Given the description of an element on the screen output the (x, y) to click on. 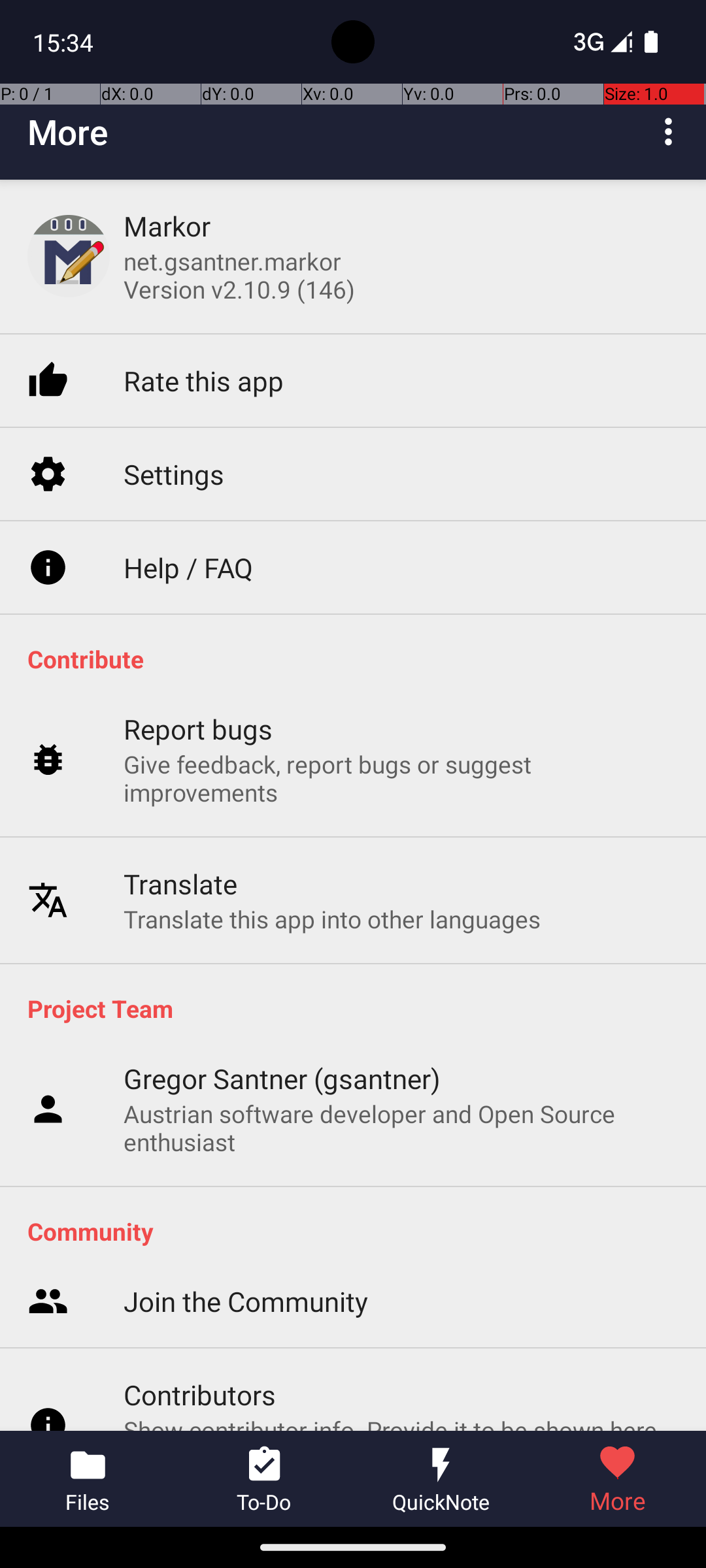
Contribute Element type: android.widget.TextView (359, 658)
Project Team Element type: android.widget.TextView (359, 1008)
Community Element type: android.widget.TextView (359, 1230)
net.gsantner.markor
Version v2.10.9 (146) Element type: android.widget.TextView (239, 274)
Rate this app Element type: android.widget.TextView (203, 327)
Help / FAQ Element type: android.widget.TextView (188, 512)
Report bugs Element type: android.widget.TextView (198, 672)
Give feedback, report bugs or suggest improvements Element type: android.widget.TextView (400, 722)
Translate Element type: android.widget.TextView (180, 826)
Translate this app into other languages Element type: android.widget.TextView (331, 861)
Gregor Santner (gsantner) Element type: android.widget.TextView (281, 1077)
Austrian software developer and Open Source enthusiast Element type: android.widget.TextView (400, 1127)
Join the Community Element type: android.widget.TextView (245, 1132)
Contributors Element type: android.widget.TextView (199, 1178)
Show contributor info. Provide it to be shown here on an opt-in basis after contributing Element type: android.widget.TextView (400, 1227)
